Given the description of an element on the screen output the (x, y) to click on. 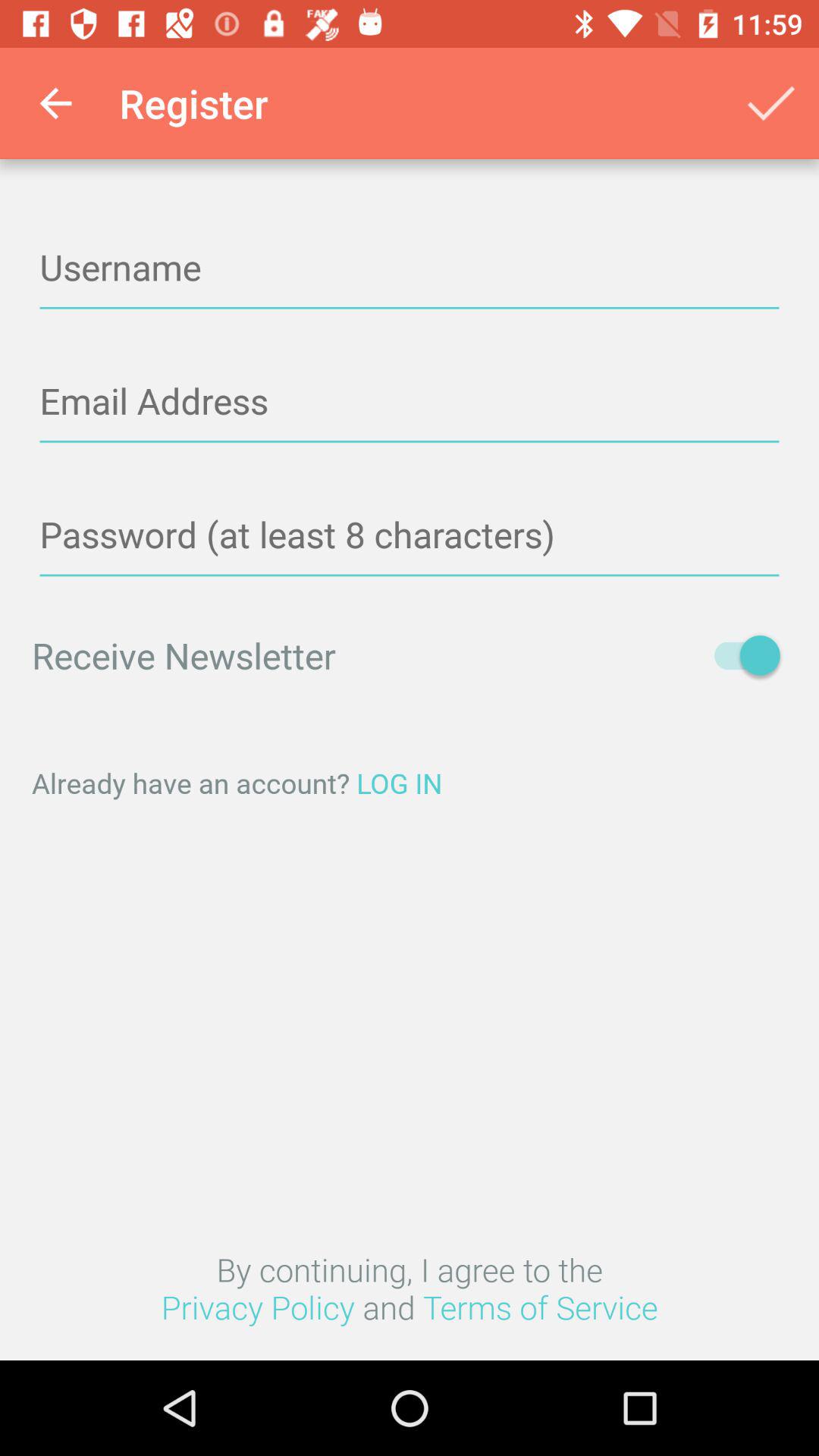
press icon above already have an icon (739, 655)
